Given the description of an element on the screen output the (x, y) to click on. 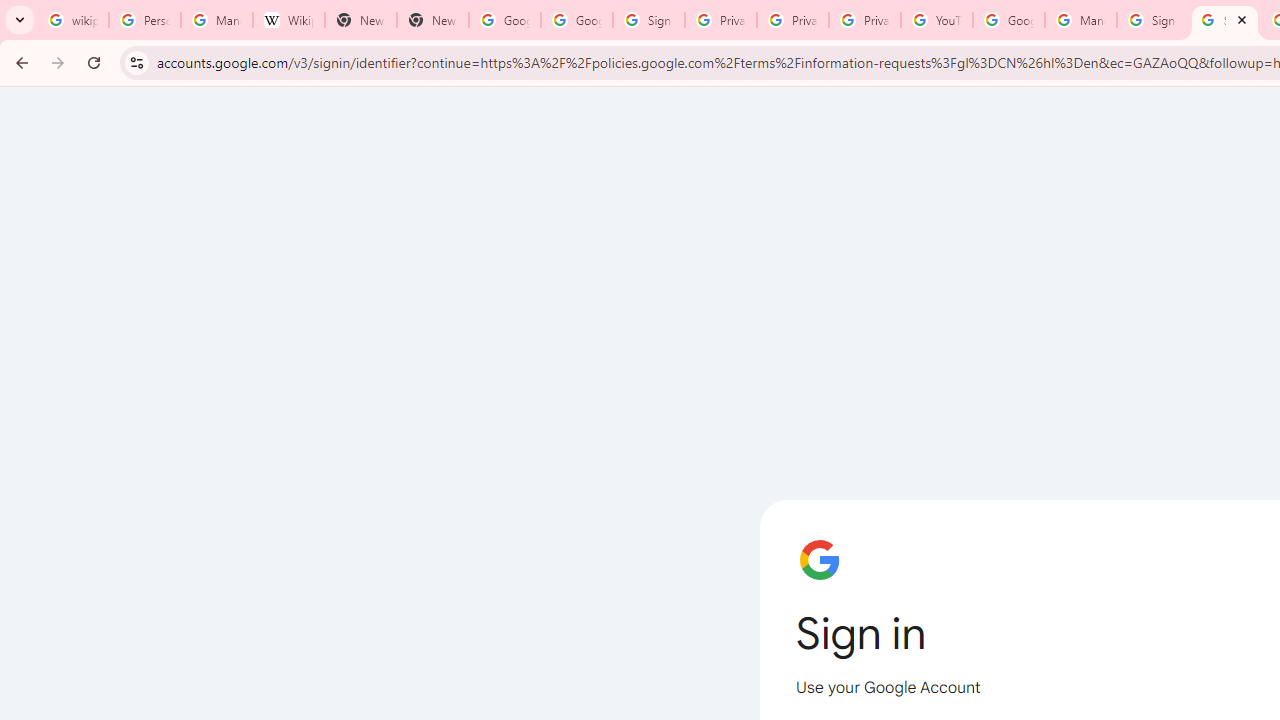
Google Account Help (1008, 20)
Manage your Location History - Google Search Help (216, 20)
YouTube (936, 20)
New Tab (360, 20)
Sign in - Google Accounts (648, 20)
Google Drive: Sign-in (577, 20)
Personalization & Google Search results - Google Search Help (144, 20)
Wikipedia:Edit requests - Wikipedia (289, 20)
